Given the description of an element on the screen output the (x, y) to click on. 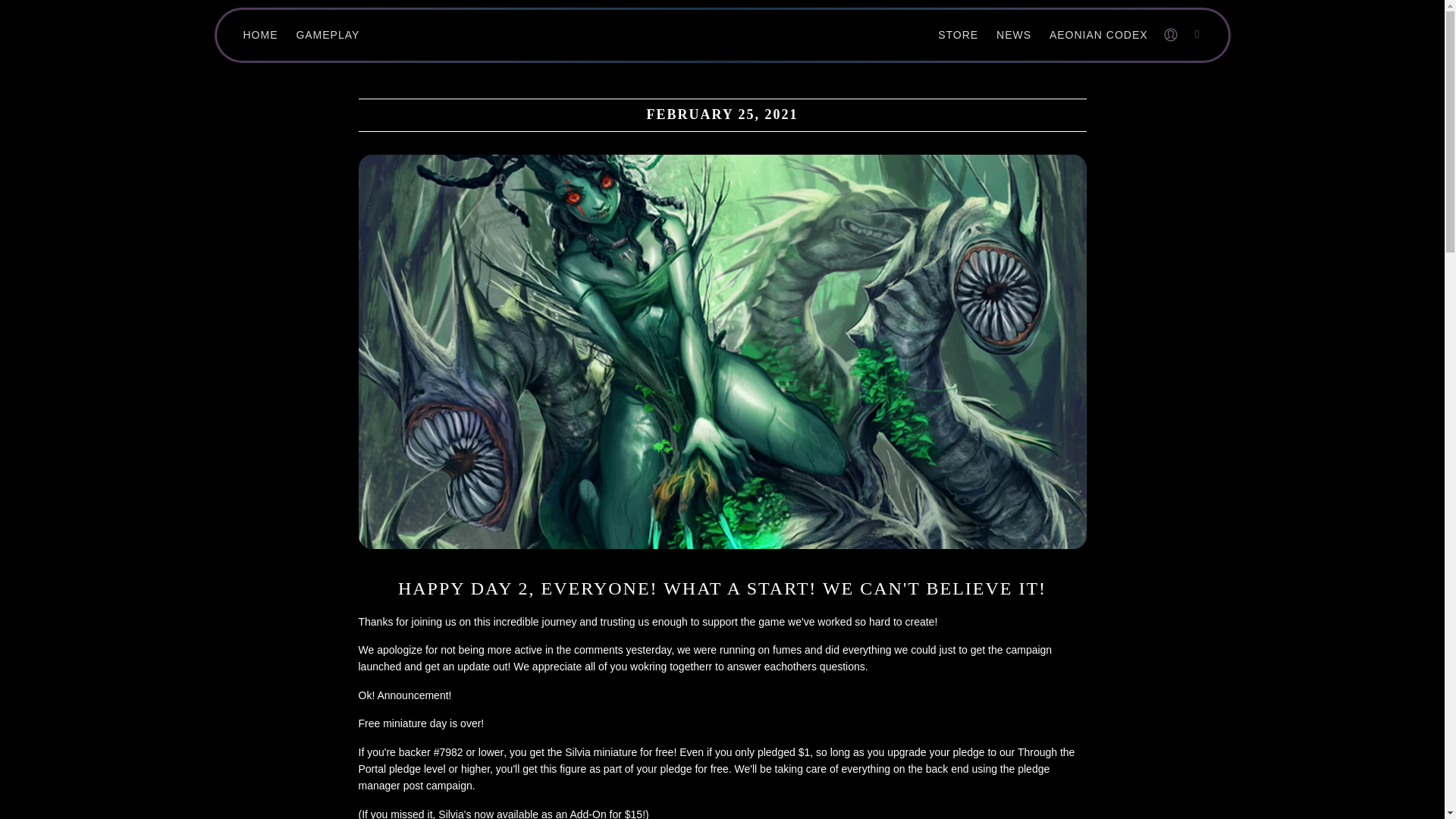
HOME (261, 35)
NEWS (1013, 35)
STORE (957, 35)
AEONIAN CODEX (1098, 35)
GAMEPLAY (327, 35)
